Given the description of an element on the screen output the (x, y) to click on. 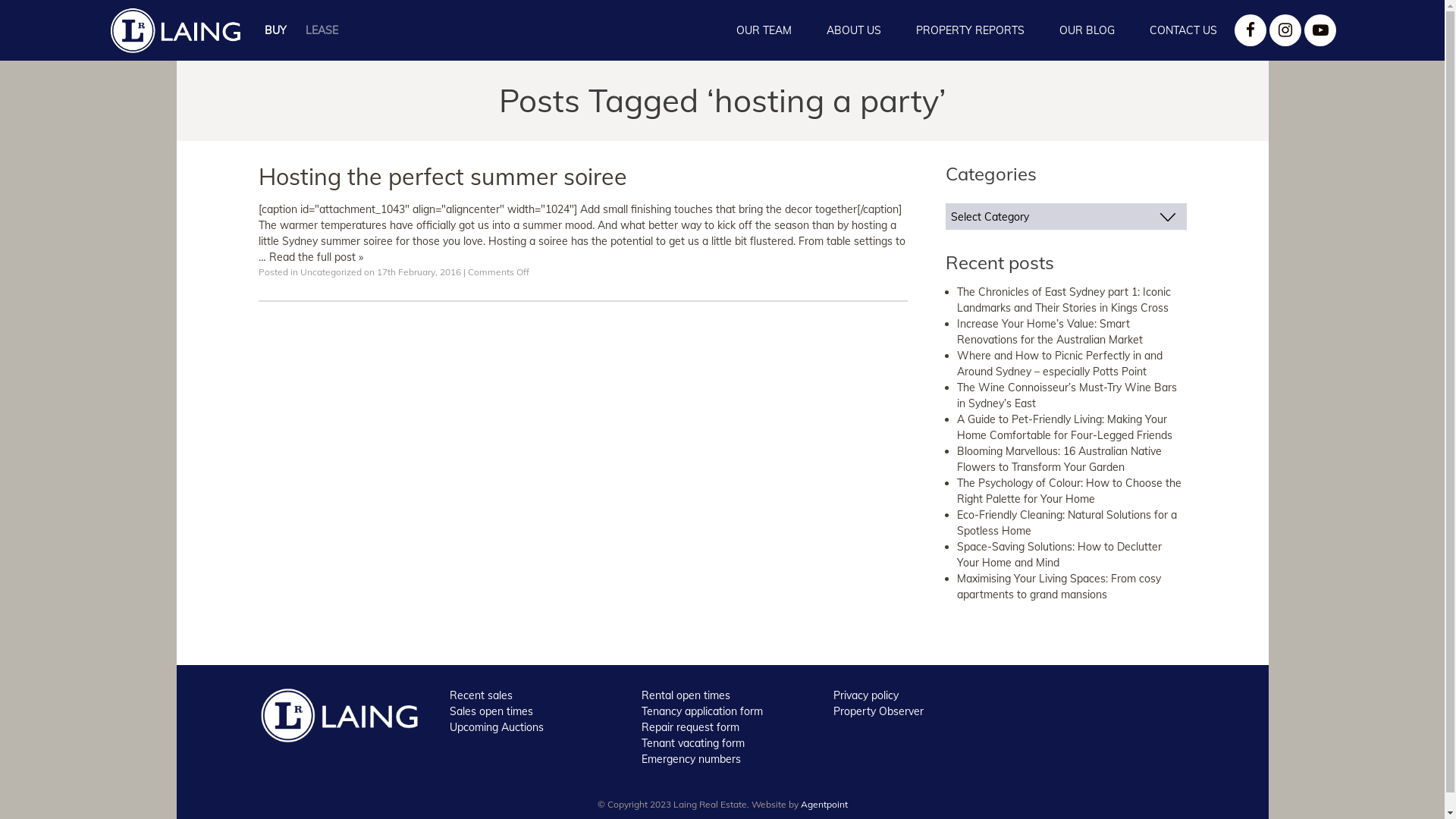
Laing Real Estate -  Element type: hover (338, 714)
LEASE Element type: text (321, 30)
Privacy policy Element type: text (865, 695)
Laing Real Estate -  Element type: hover (174, 30)
ABOUT US Element type: text (853, 30)
Rental open times Element type: text (685, 695)
CONTACT US Element type: text (1183, 30)
Hosting the perfect summer soiree Element type: text (441, 176)
Tenancy application form Element type: text (701, 711)
Uncategorized Element type: text (330, 271)
Recent sales Element type: text (480, 695)
BUY Element type: text (275, 30)
Upcoming Auctions Element type: text (496, 727)
Tenant vacating form Element type: text (692, 742)
Youtube Element type: hover (1320, 30)
Sales open times Element type: text (491, 711)
Repair request form Element type: text (690, 727)
Agentpoint Element type: text (823, 803)
OUR TEAM Element type: text (763, 30)
OUR BLOG Element type: text (1086, 30)
PROPERTY REPORTS Element type: text (969, 30)
Instagram Element type: hover (1285, 30)
Space-Saving Solutions: How to Declutter Your Home and Mind Element type: text (1059, 554)
Facebook Element type: hover (1250, 30)
Eco-Friendly Cleaning: Natural Solutions for a Spotless Home Element type: text (1066, 522)
Property Observer Element type: text (878, 711)
Emergency numbers Element type: text (690, 758)
